Given the description of an element on the screen output the (x, y) to click on. 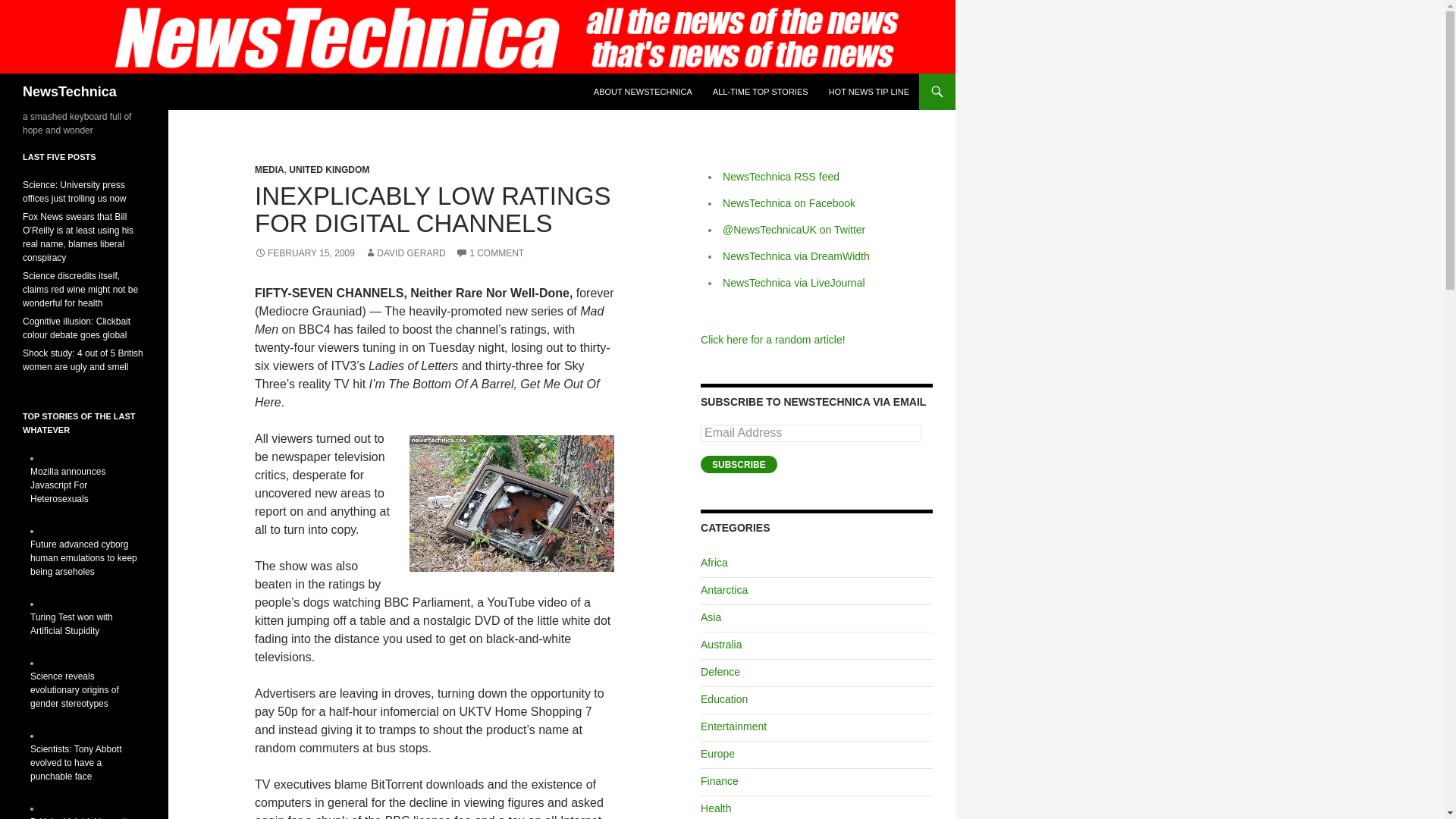
Click here for a random article! (772, 339)
NewsTechnica on Facebook (789, 203)
DAVID GERARD (405, 253)
MEDIA (268, 169)
Education (724, 698)
ABOUT NEWSTECHNICA (643, 91)
SUBSCRIBE (738, 464)
Asia (710, 616)
NewsTechnica via LiveJournal (793, 282)
Africa (714, 562)
NewsTechnica via DreamWidth (795, 256)
Australia (720, 644)
FEBRUARY 15, 2009 (304, 253)
